Given the description of an element on the screen output the (x, y) to click on. 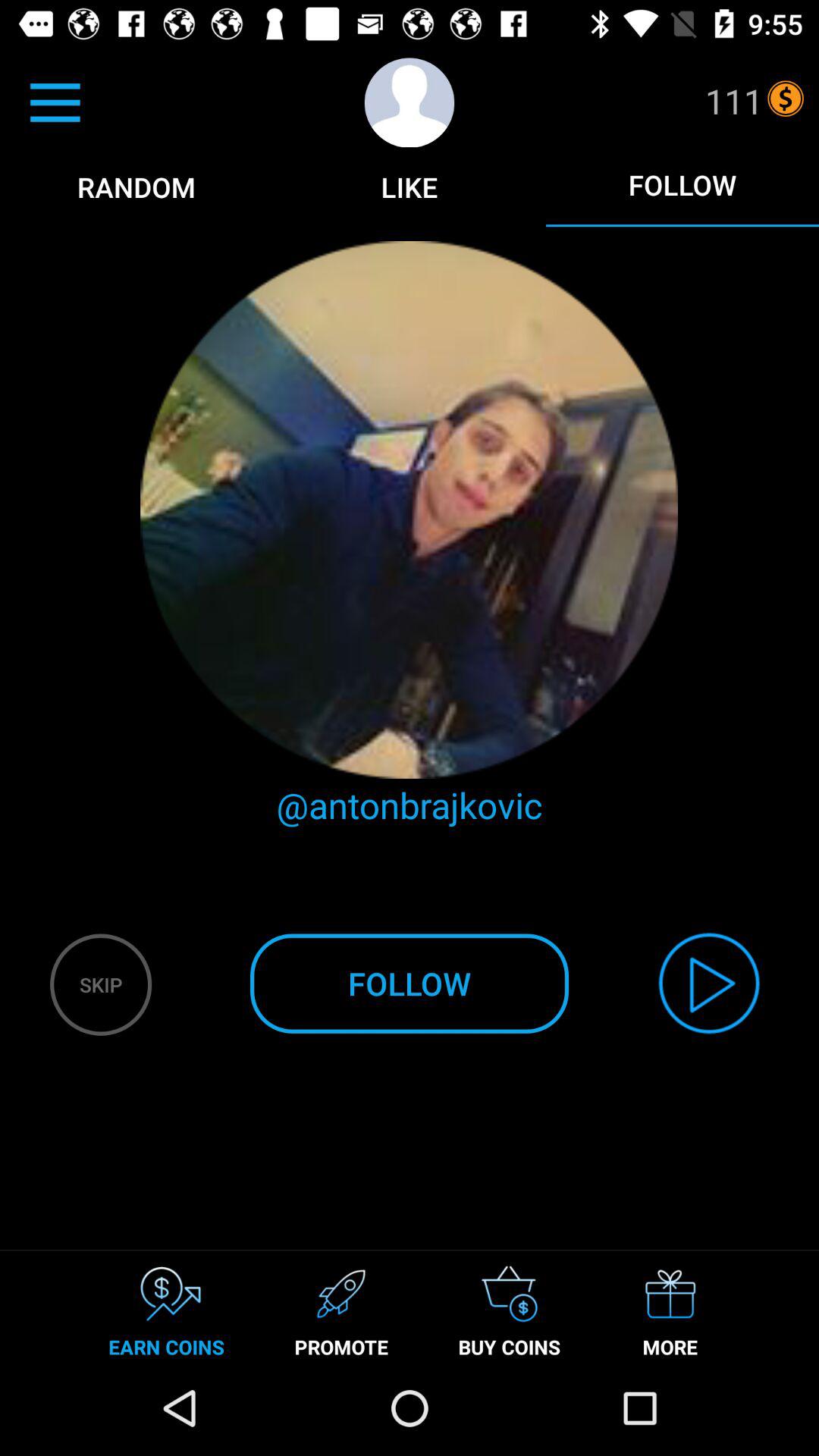
select like (409, 187)
tap the follow button (682, 185)
select the 111 (734, 100)
select the picture (409, 509)
select play icon at the bottom (709, 983)
select the icon which is just above the promote (341, 1293)
click on the  profile icon which is beside the menu icon (409, 103)
